Given the description of an element on the screen output the (x, y) to click on. 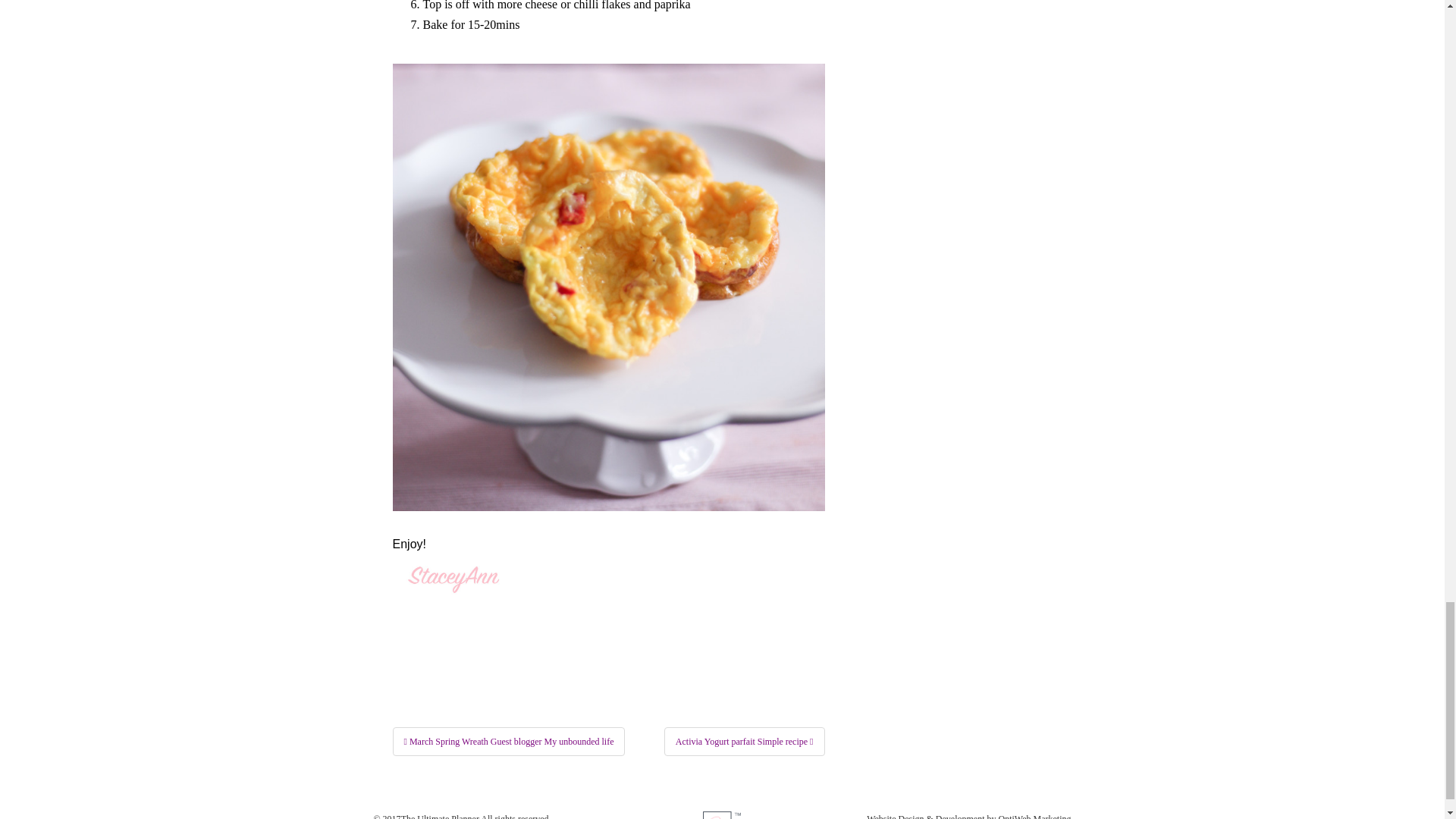
The Ultimate Planner (440, 816)
March Spring Wreath Guest blogger My unbounded life (509, 741)
The Ultimate Planner (440, 816)
Activia Yogurt parfait Simple recipe (744, 741)
